Given the description of an element on the screen output the (x, y) to click on. 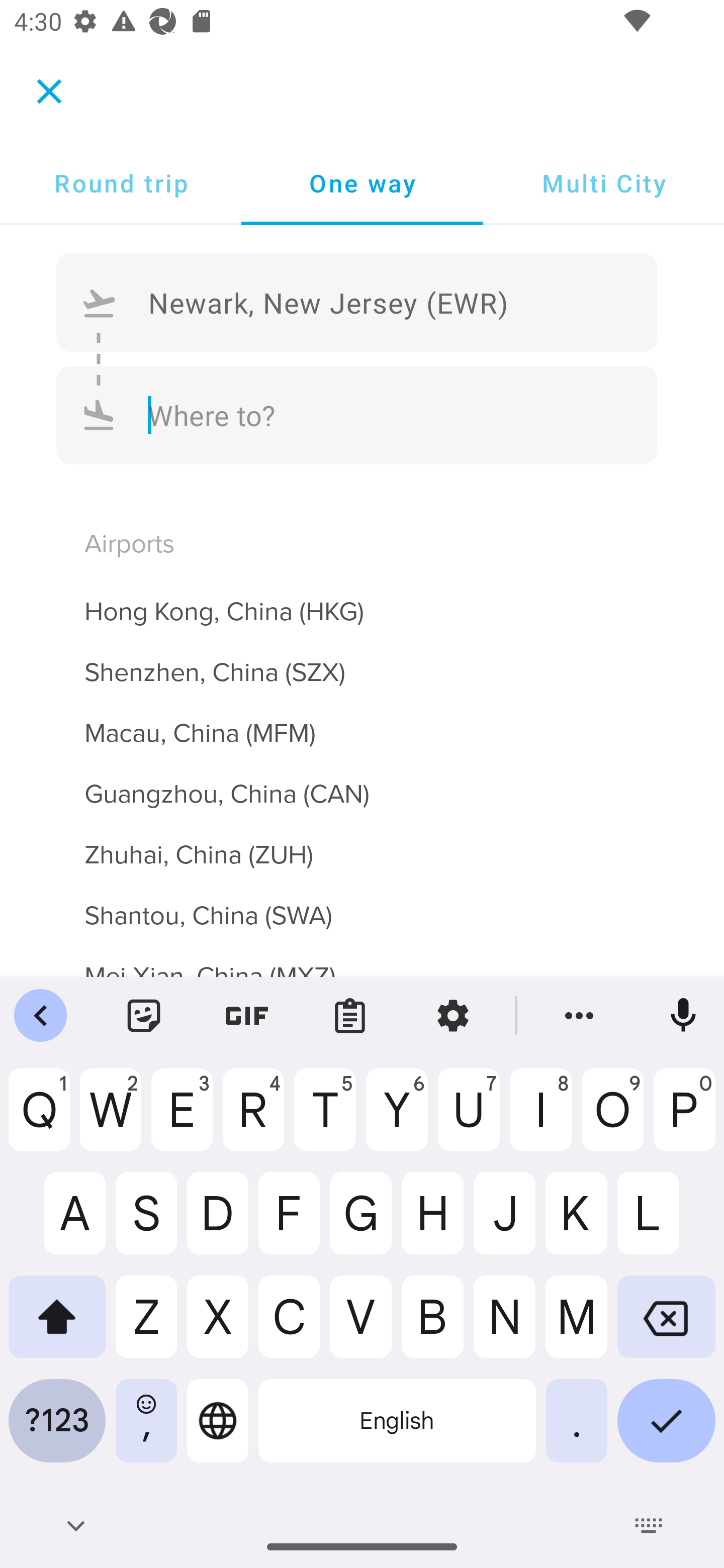
Cancel (49, 90)
Round trip (120, 183)
Multi City (603, 183)
Newark, New Jersey (EWR) (356, 302)
Where to? (356, 414)
Hong Kong, China (HKG) (361, 599)
Shenzhen, China (SZX) (361, 660)
Macau, China (MFM) (361, 721)
Guangzhou, China (CAN) (361, 782)
Zhuhai, China (ZUH) (361, 843)
Shantou, China (SWA) (361, 903)
